Given the description of an element on the screen output the (x, y) to click on. 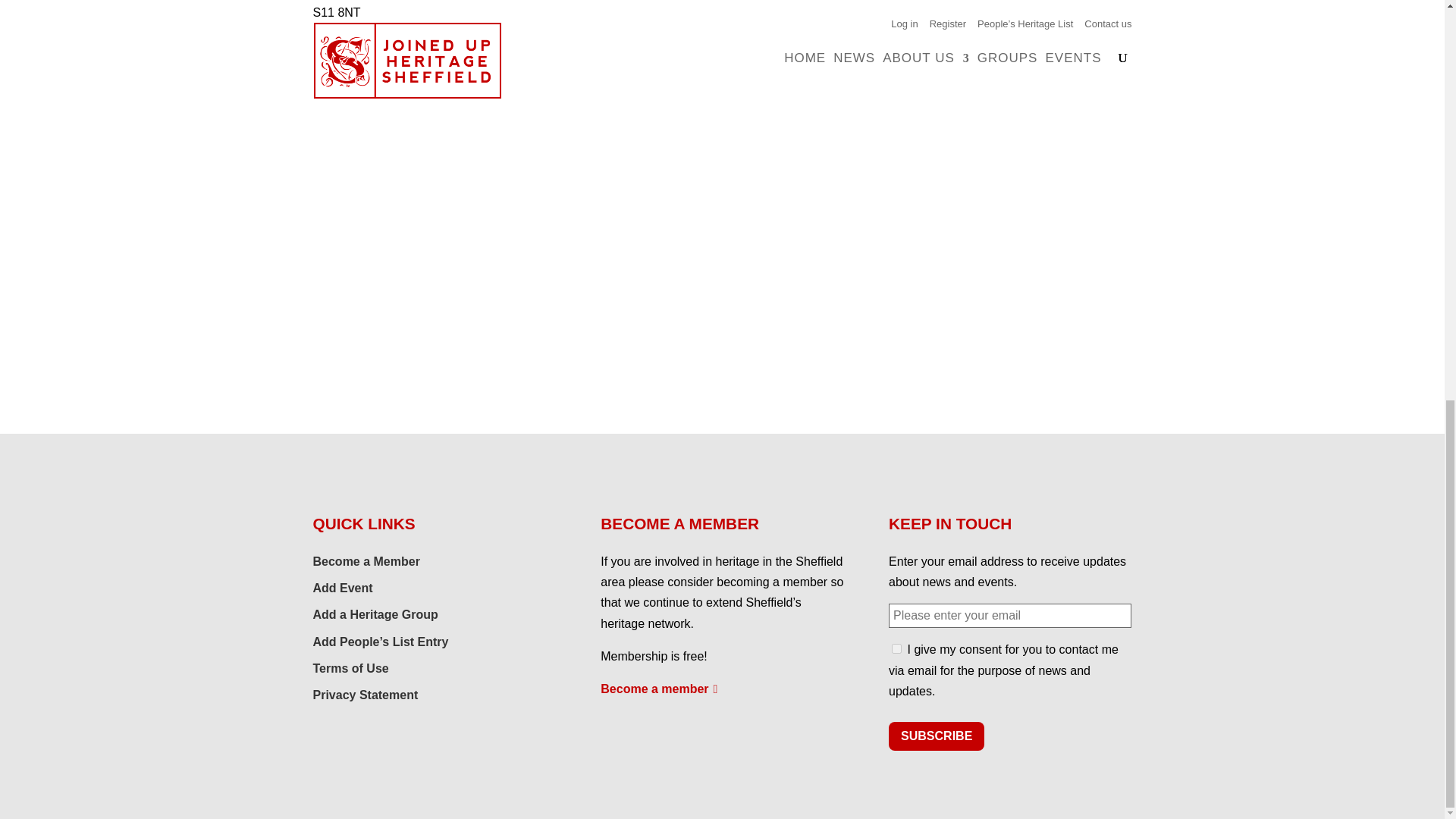
SUBSCRIBE (936, 736)
SUBSCRIBE (936, 736)
Privacy Statement (365, 694)
Add Event (342, 587)
on (896, 648)
Become a Member (366, 561)
Add a Heritage Group (375, 614)
Become a member (658, 688)
Terms of Use (350, 667)
